Given the description of an element on the screen output the (x, y) to click on. 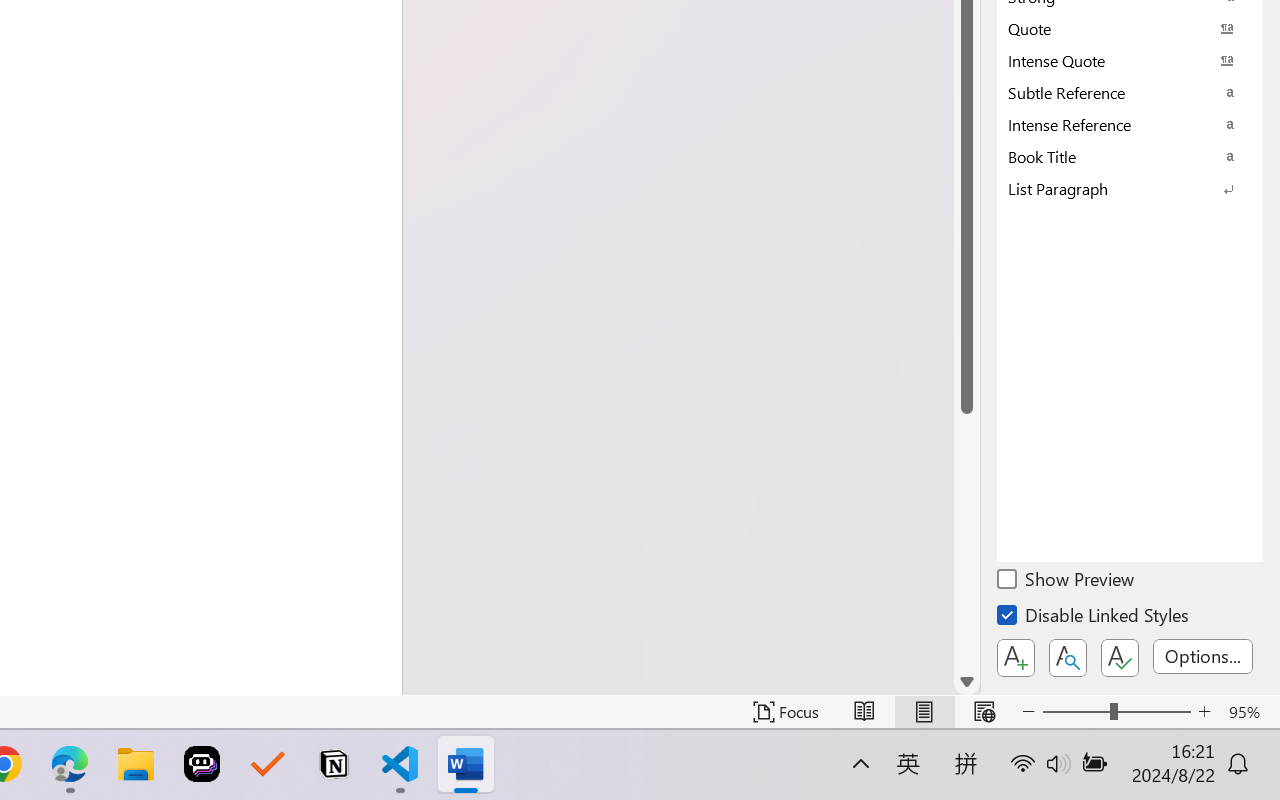
Zoom 95% (1249, 712)
Book Title (1130, 156)
Quote (1130, 28)
Intense Reference (1130, 124)
